Given the description of an element on the screen output the (x, y) to click on. 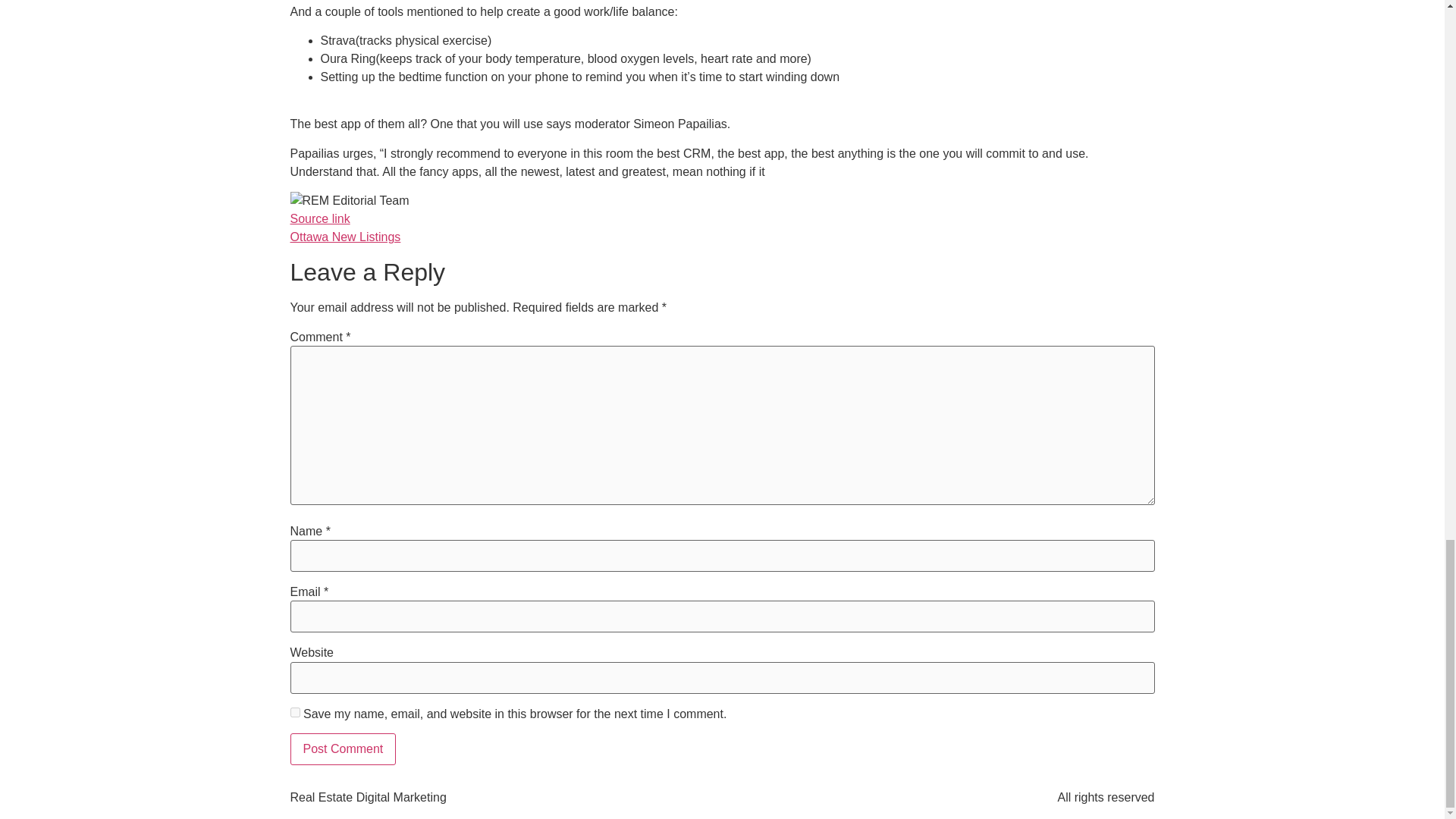
Ottawa New Listings (344, 236)
yes (294, 712)
Post Comment (342, 748)
Source link (319, 218)
Post Comment (342, 748)
Ottawa New Listings (344, 236)
